Given the description of an element on the screen output the (x, y) to click on. 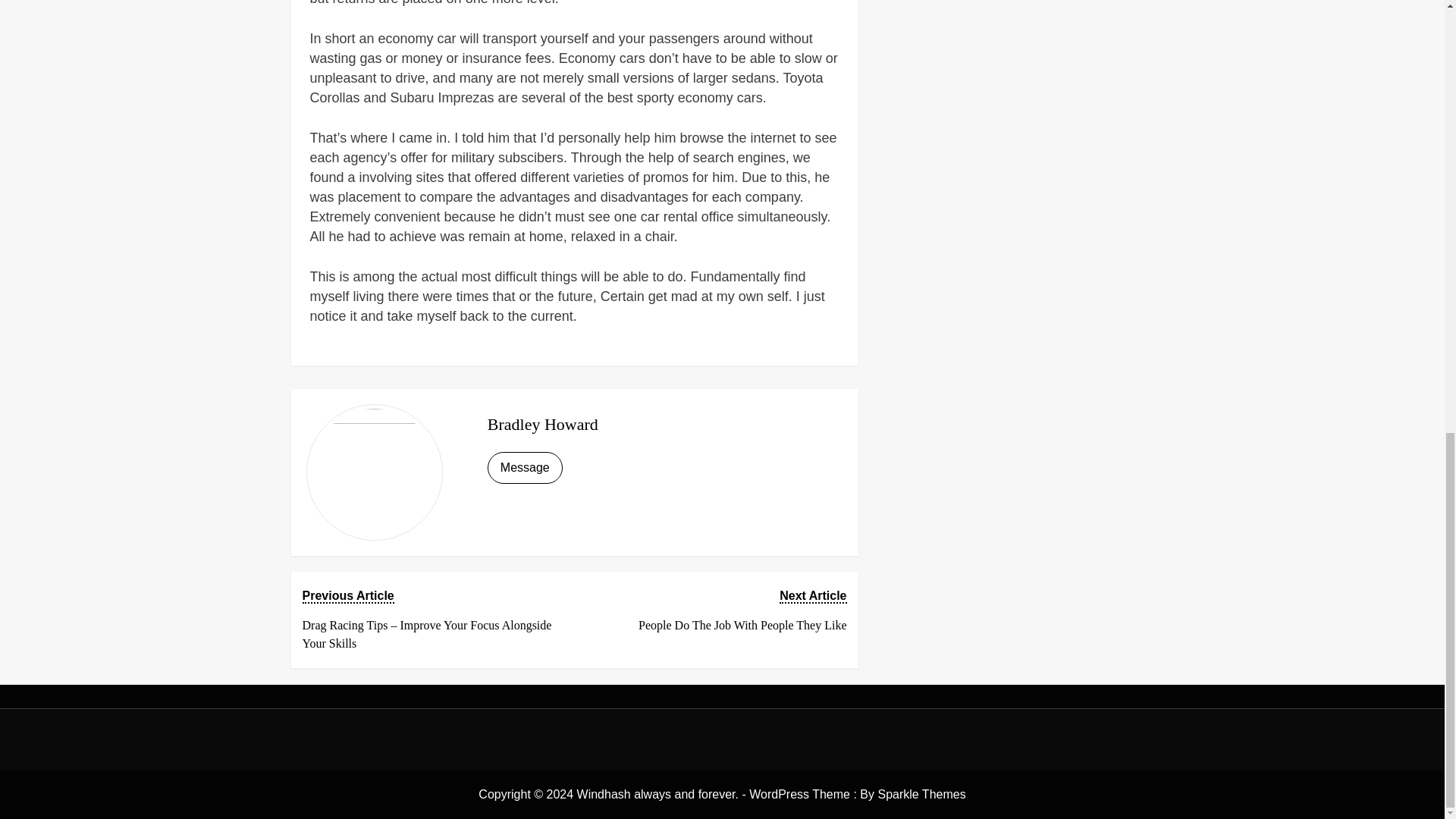
Sparkle Themes (921, 793)
Bradley Howard (542, 424)
Posts by Bradley Howard (542, 424)
Message (715, 610)
